Given the description of an element on the screen output the (x, y) to click on. 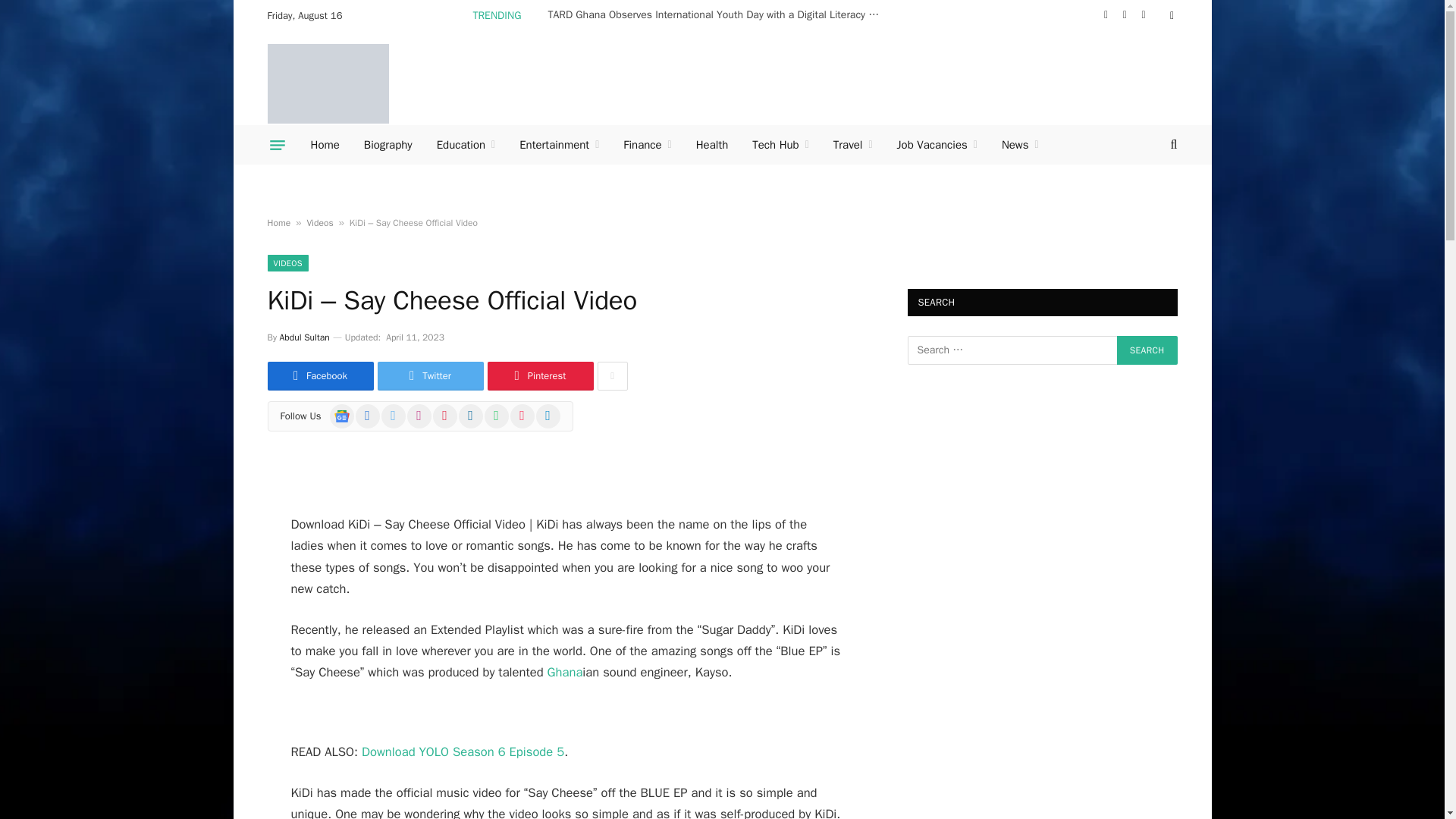
Home (325, 144)
Entertainment (558, 144)
247Hitz.Com (327, 83)
Search (1146, 349)
Search (1146, 349)
Switch to Dark Design - easier on eyes. (1169, 15)
Biography (388, 144)
Share on Facebook (319, 375)
Education (466, 144)
